Given the description of an element on the screen output the (x, y) to click on. 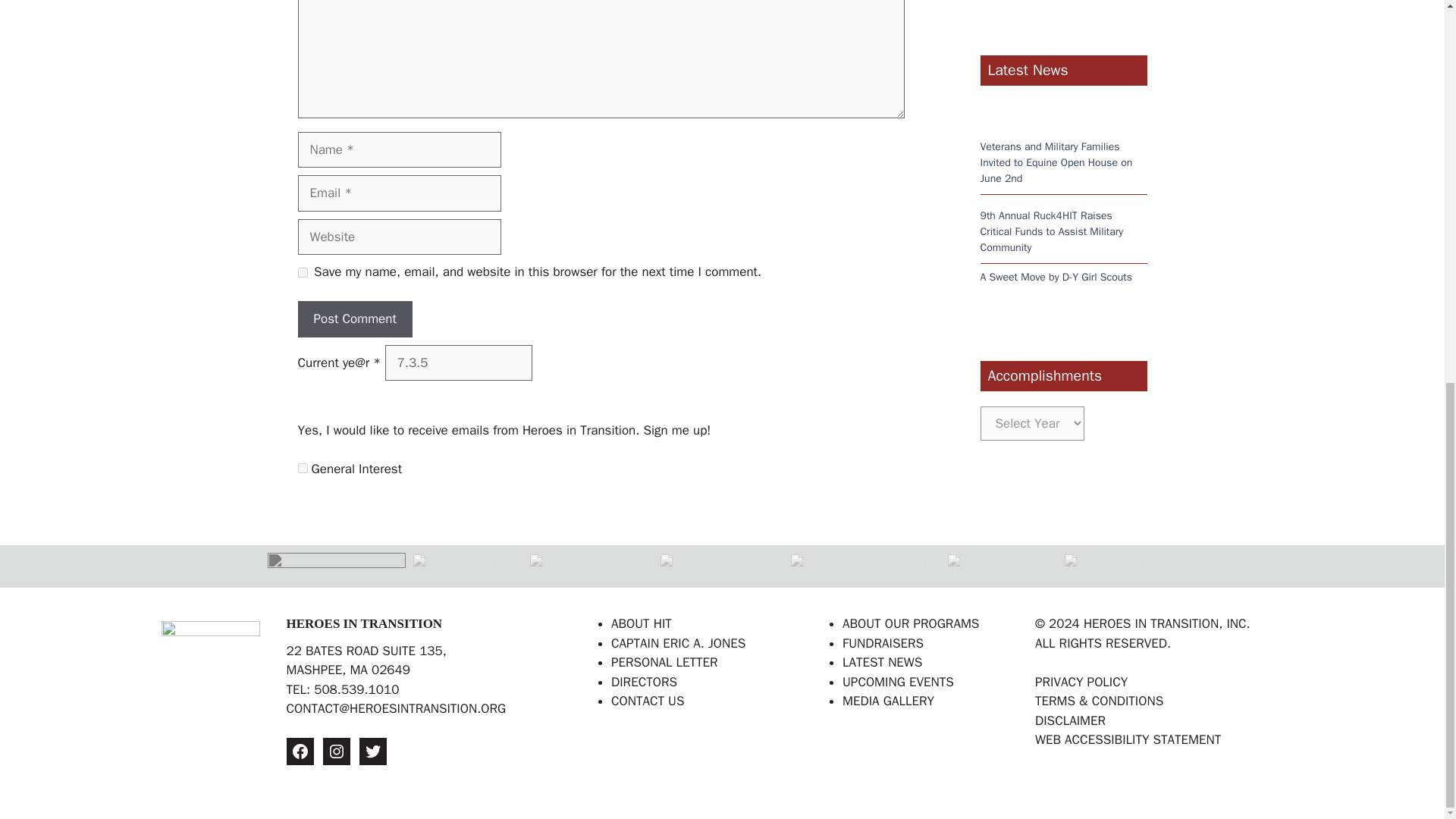
yes (302, 272)
Post Comment (354, 319)
7.3.5 (458, 362)
410f4f30-bcf2-11e8-a7b4-d4ae52a6892e (302, 468)
